Given the description of an element on the screen output the (x, y) to click on. 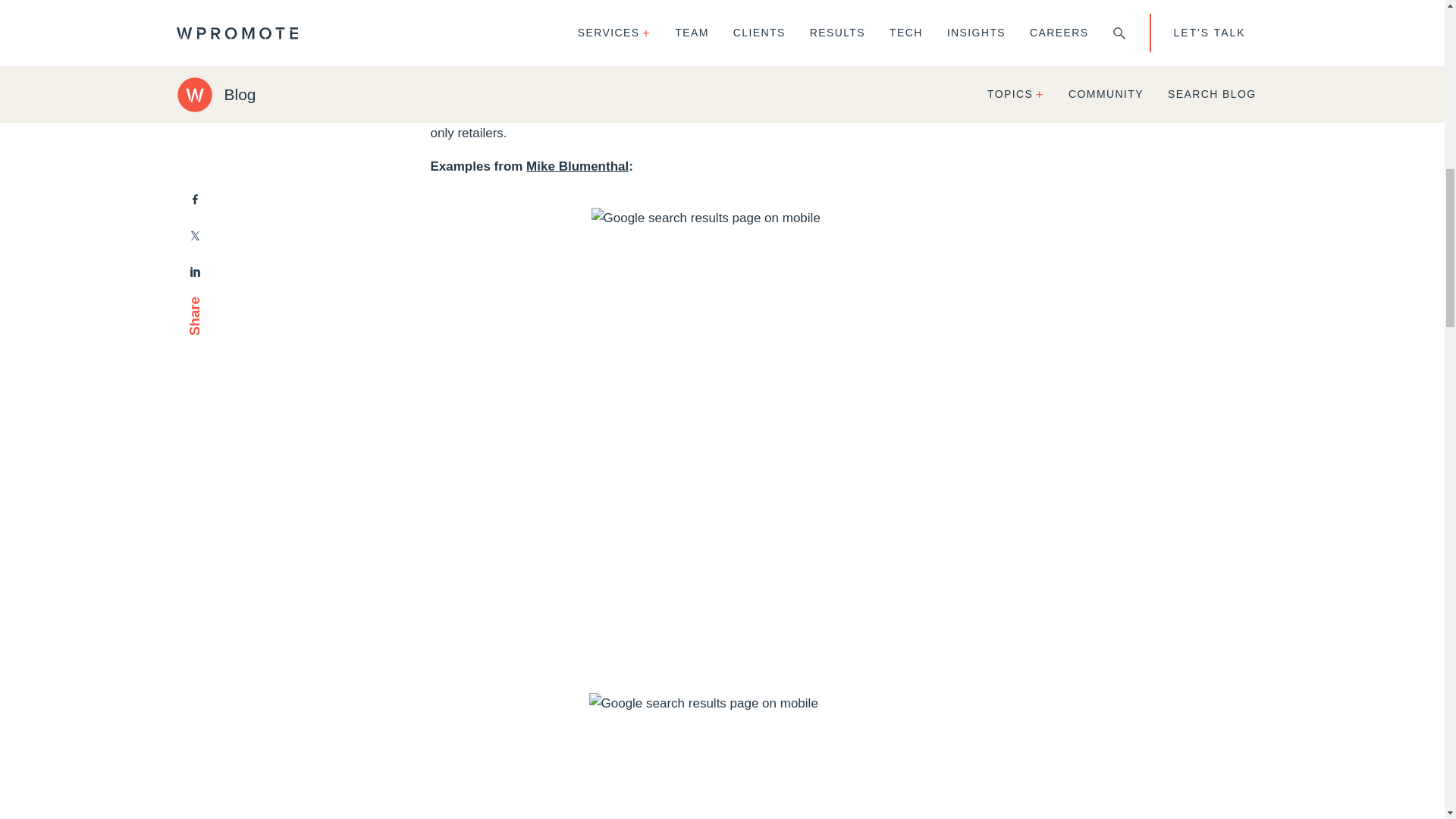
Mike Blumenthal (576, 165)
